Given the description of an element on the screen output the (x, y) to click on. 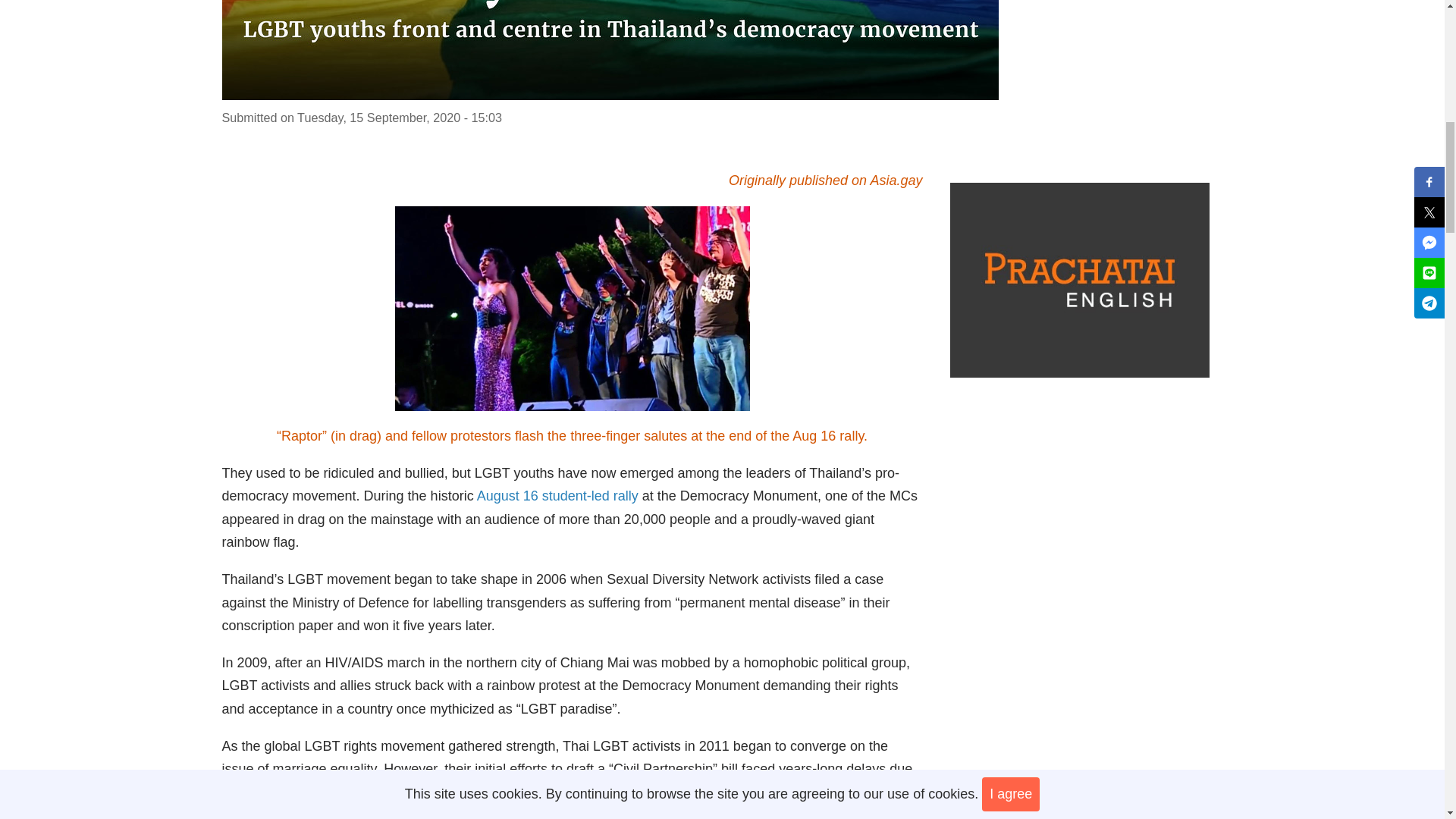
Asia.gay (895, 180)
August 16 student-led rally (559, 495)
